Given the description of an element on the screen output the (x, y) to click on. 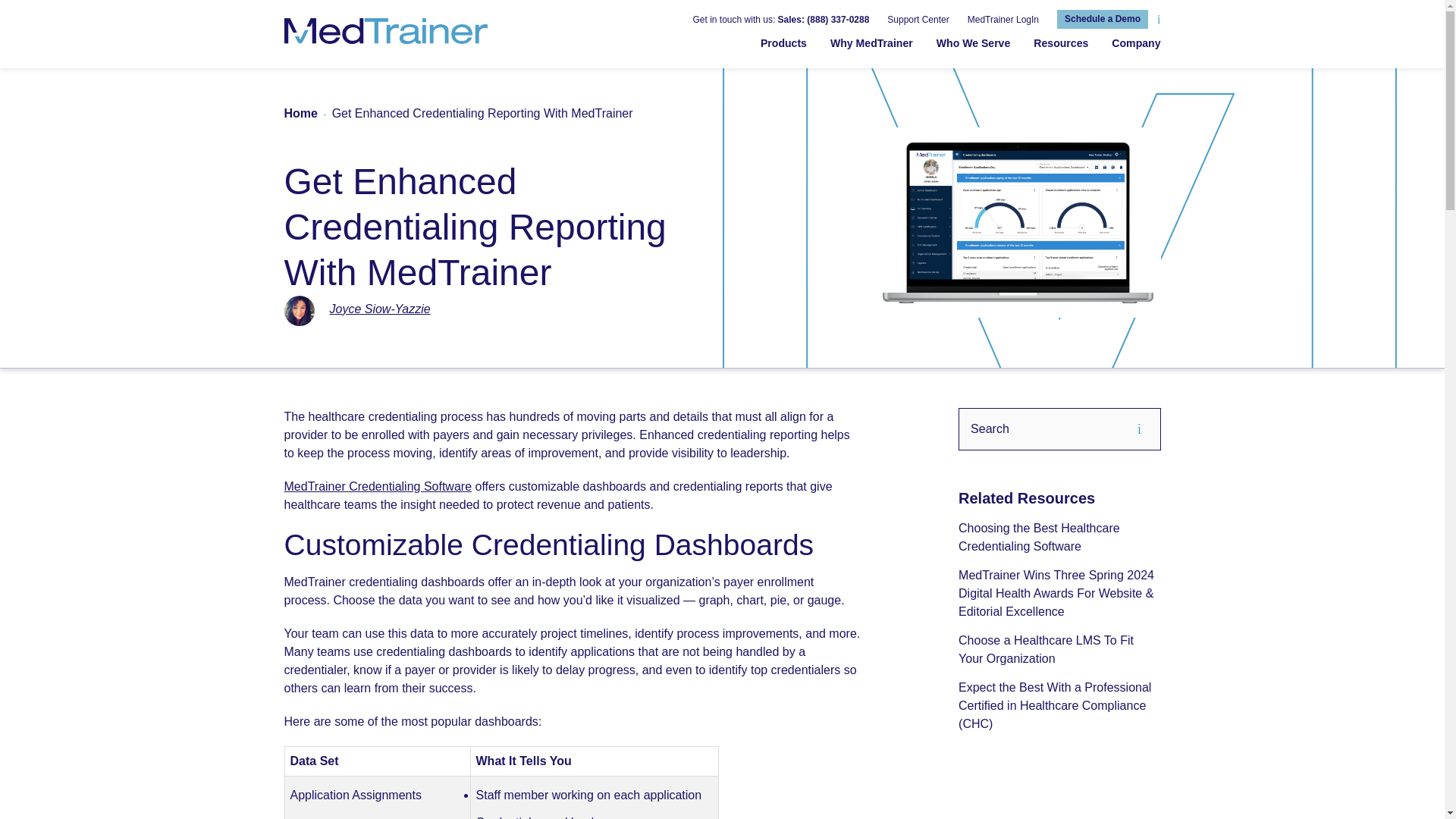
Go to MedTrainer. (300, 113)
